Given the description of an element on the screen output the (x, y) to click on. 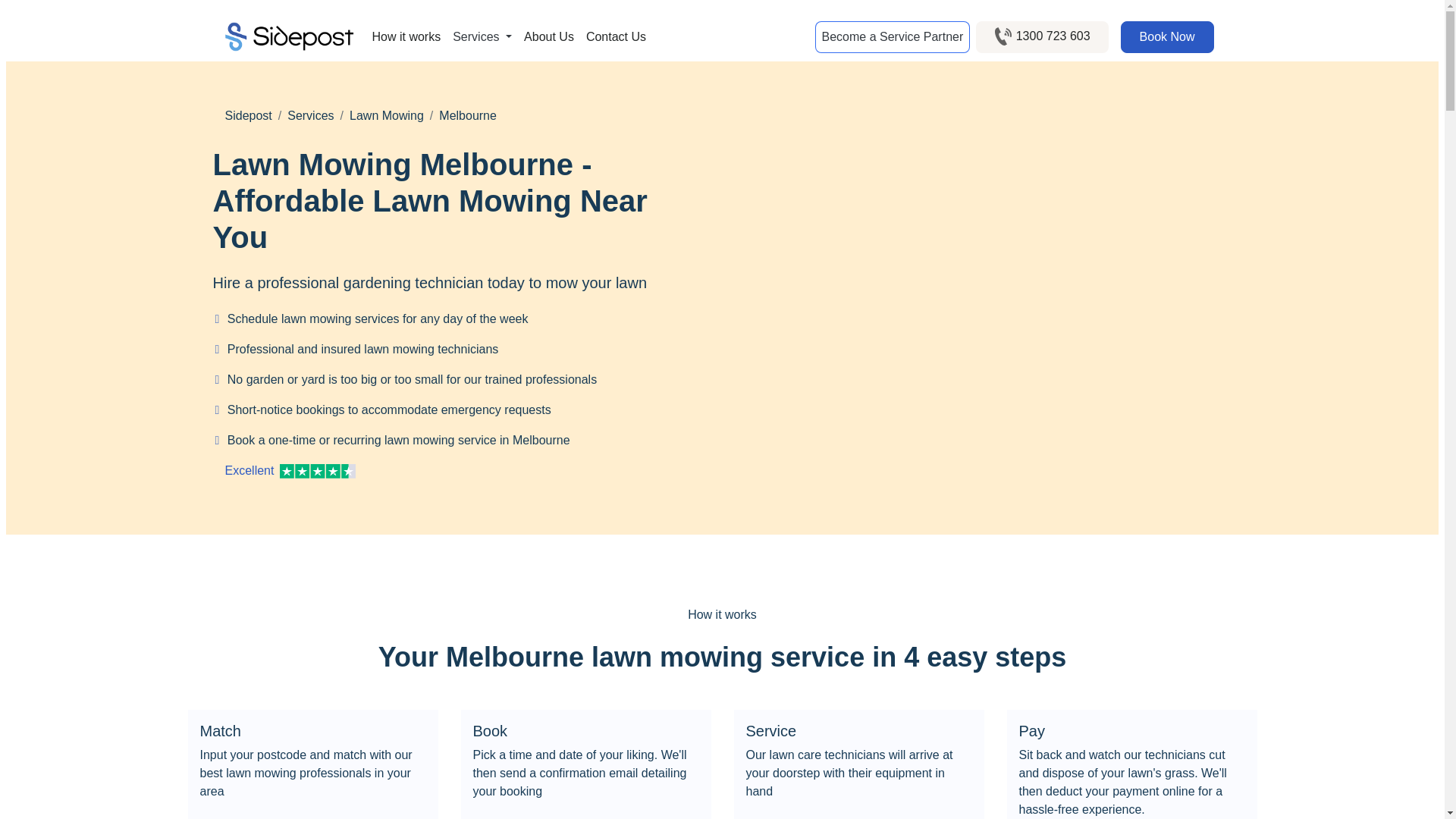
Services (309, 115)
Sidepost (247, 115)
About Us (548, 37)
Book Now (1167, 37)
Services (482, 37)
Excellent (455, 470)
Become a Service Partner (891, 37)
Melbourne (467, 115)
How it works (405, 37)
1300 723 603 (1041, 37)
Contact Us (615, 37)
Lawn Mowing (386, 115)
